Given the description of an element on the screen output the (x, y) to click on. 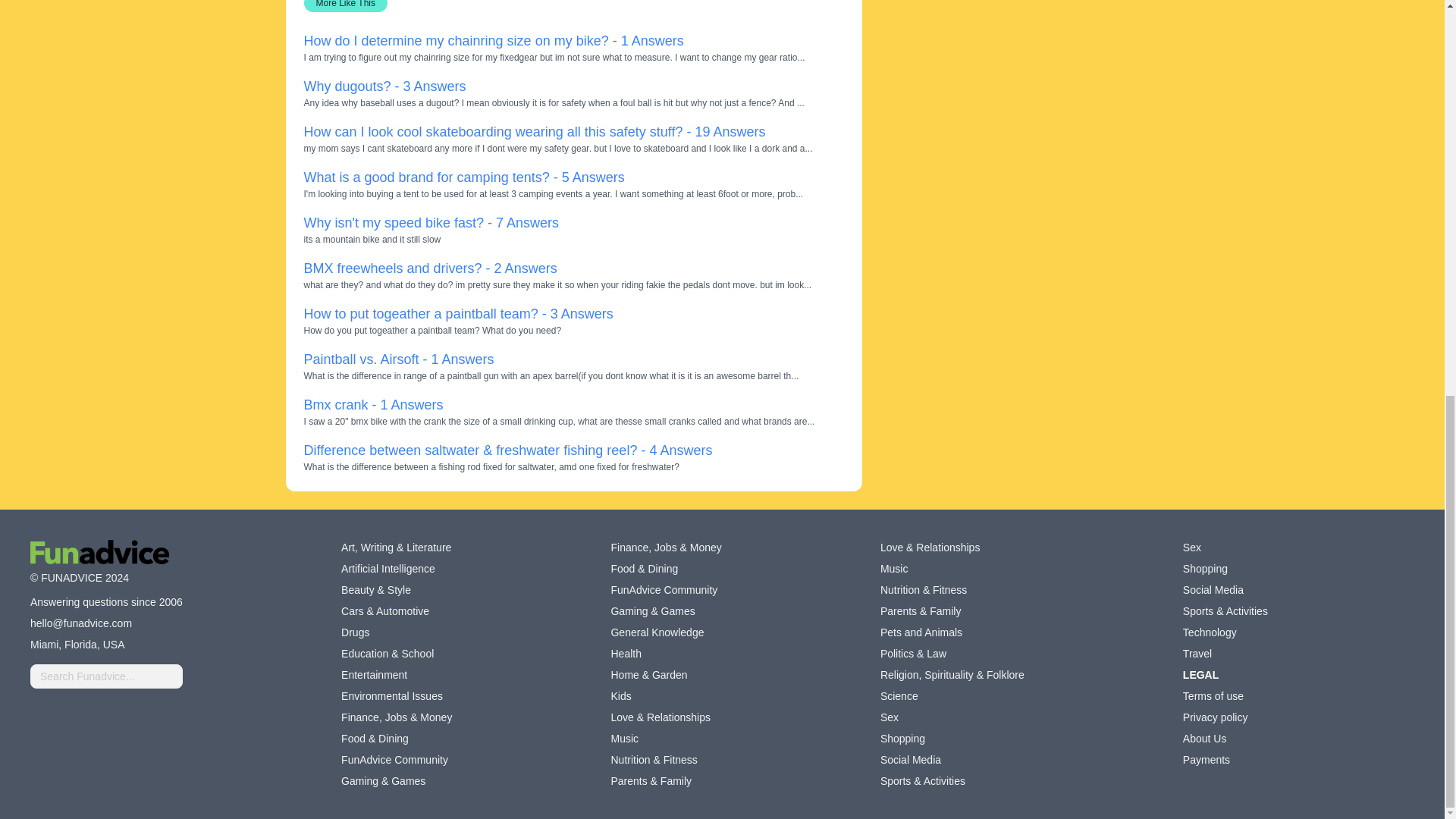
BMX freewheels and drivers? - 2 Answers (429, 268)
What is a good brand for camping tents? - 5 Answers (463, 177)
How do I determine my chainring size on my bike? - 1 Answers (492, 40)
Why isn't my speed bike fast? - 7 Answers (430, 222)
Why dugouts? - 3 Answers (383, 86)
Paintball vs. Airsoft - 1 Answers (397, 359)
Bmx crank - 1 Answers (372, 404)
How to put togeather a paintball team? - 3 Answers (457, 313)
Artificial Intelligence (387, 568)
